Given the description of an element on the screen output the (x, y) to click on. 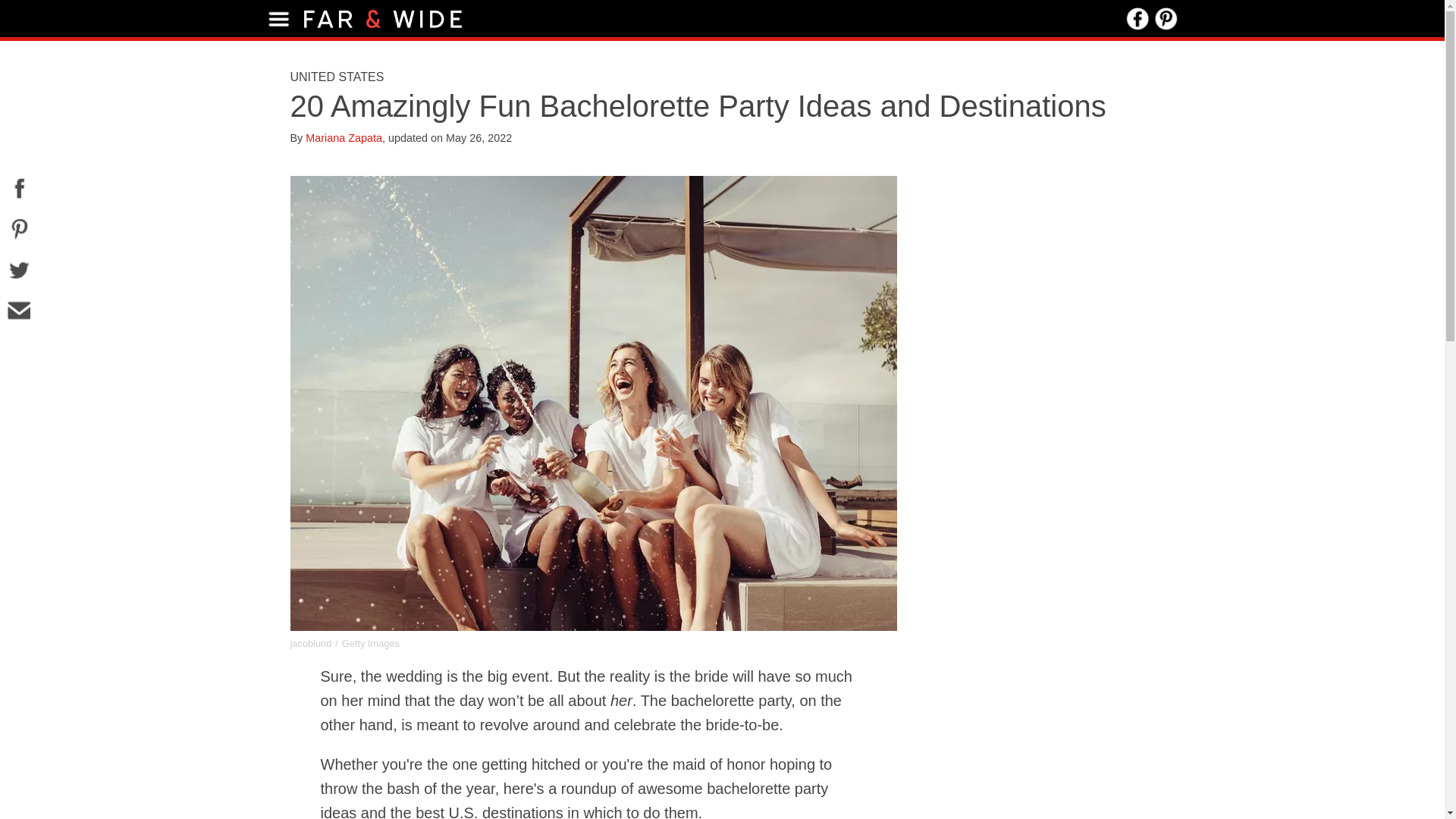
Mariana Zapata (343, 137)
